Given the description of an element on the screen output the (x, y) to click on. 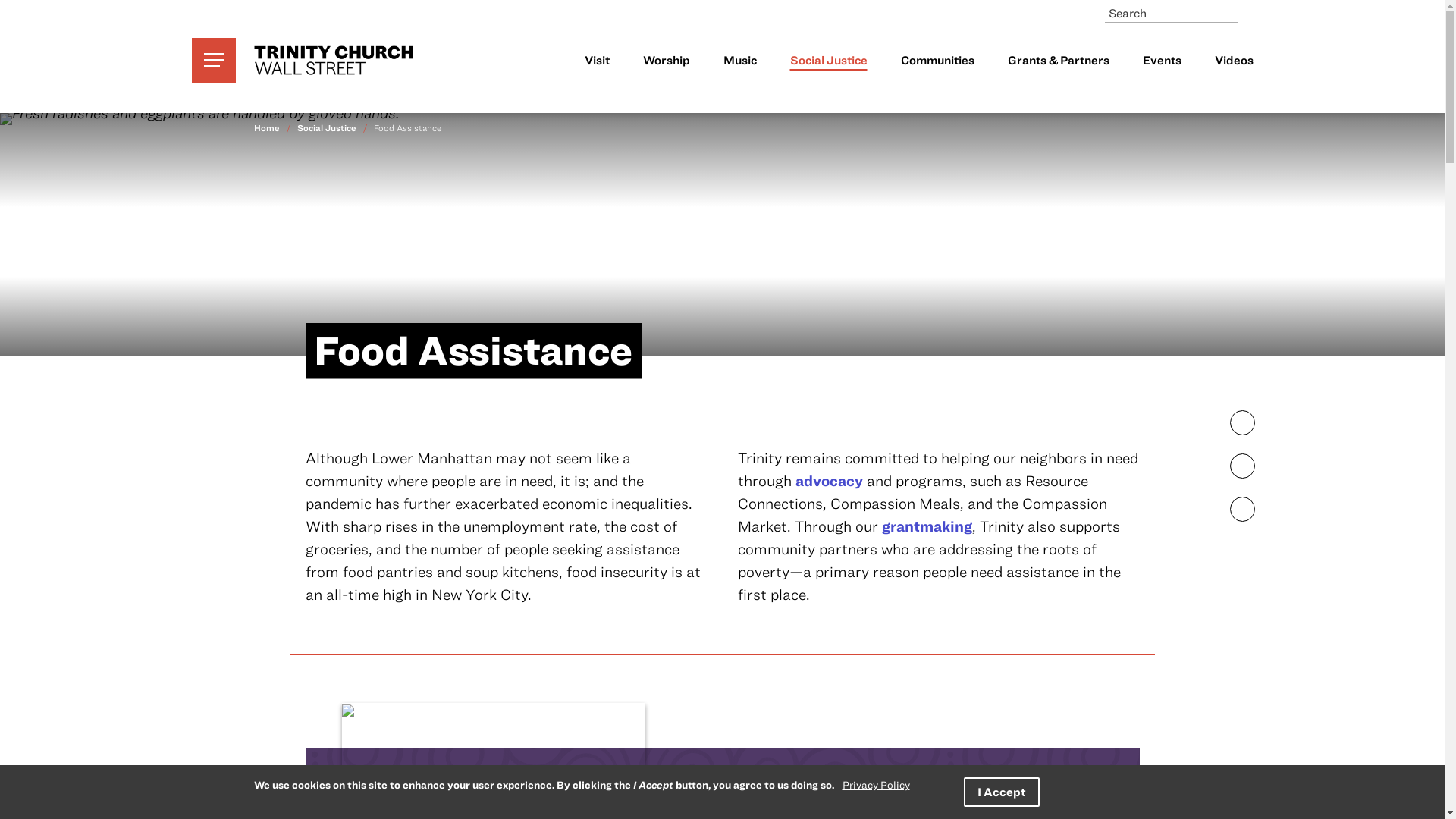
Social Justice (828, 60)
Skip to main content (721, 6)
advocacy (827, 479)
Worship (666, 60)
Home (336, 60)
Social Justice (828, 60)
Music (740, 60)
Visit (595, 60)
Social Justice (326, 127)
Communities (937, 60)
Visit (595, 60)
Worship (666, 60)
grantmaking (925, 525)
Communities (937, 60)
Events (1160, 60)
